Given the description of an element on the screen output the (x, y) to click on. 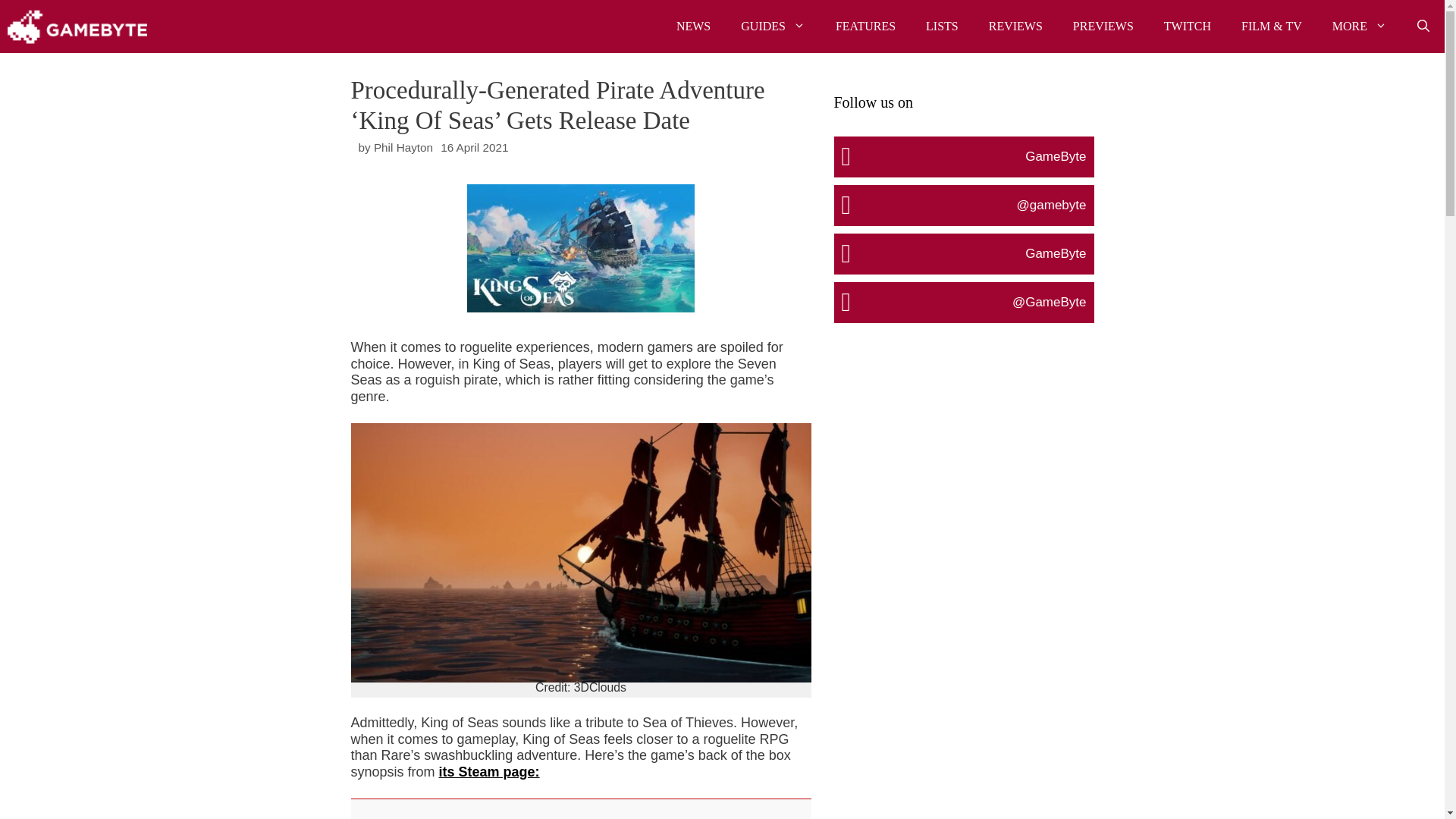
Gamebyte Youtube (963, 253)
Gamebyte Instagram (963, 205)
NEWS (693, 26)
Gamebyte Facebook (963, 156)
Gamebyte Twitter (963, 302)
GUIDES (773, 26)
GameByte (77, 26)
View all posts by Phil Hayton (403, 146)
